Given the description of an element on the screen output the (x, y) to click on. 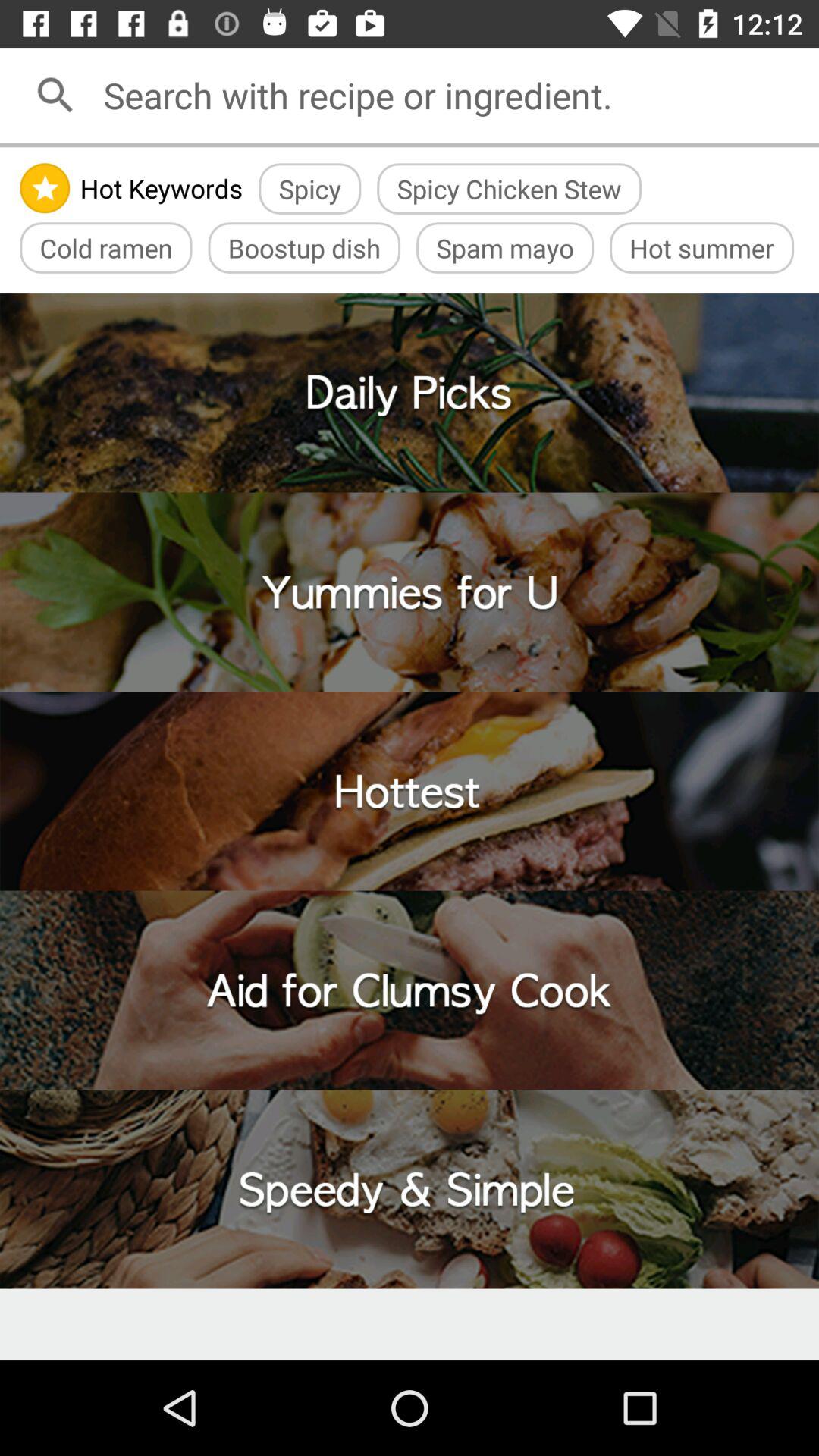
search recipes (455, 95)
